Given the description of an element on the screen output the (x, y) to click on. 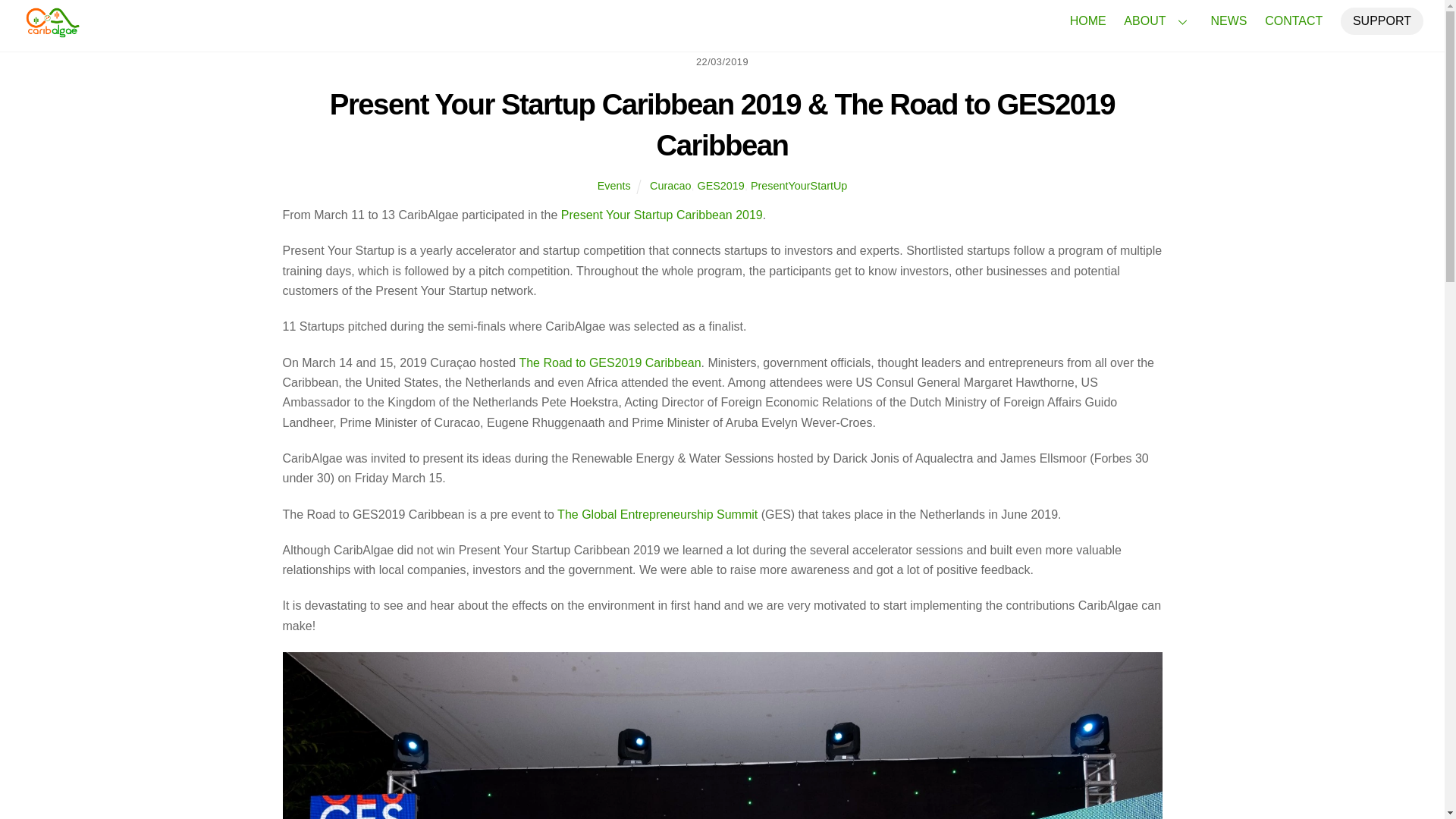
The Global Entrepreneurship Summit (657, 513)
CONTACT (1293, 21)
GES2019 (720, 185)
ABOUT (1157, 21)
Curacao (669, 185)
NEWS (1228, 21)
CaribAlgae (722, 21)
Events (52, 30)
HOME (613, 185)
PresentYourStartUp (1087, 21)
The Road to GES2019 Caribbean (799, 185)
Present Your Startup Caribbean 2019 (609, 362)
SUPPORT (661, 214)
